Given the description of an element on the screen output the (x, y) to click on. 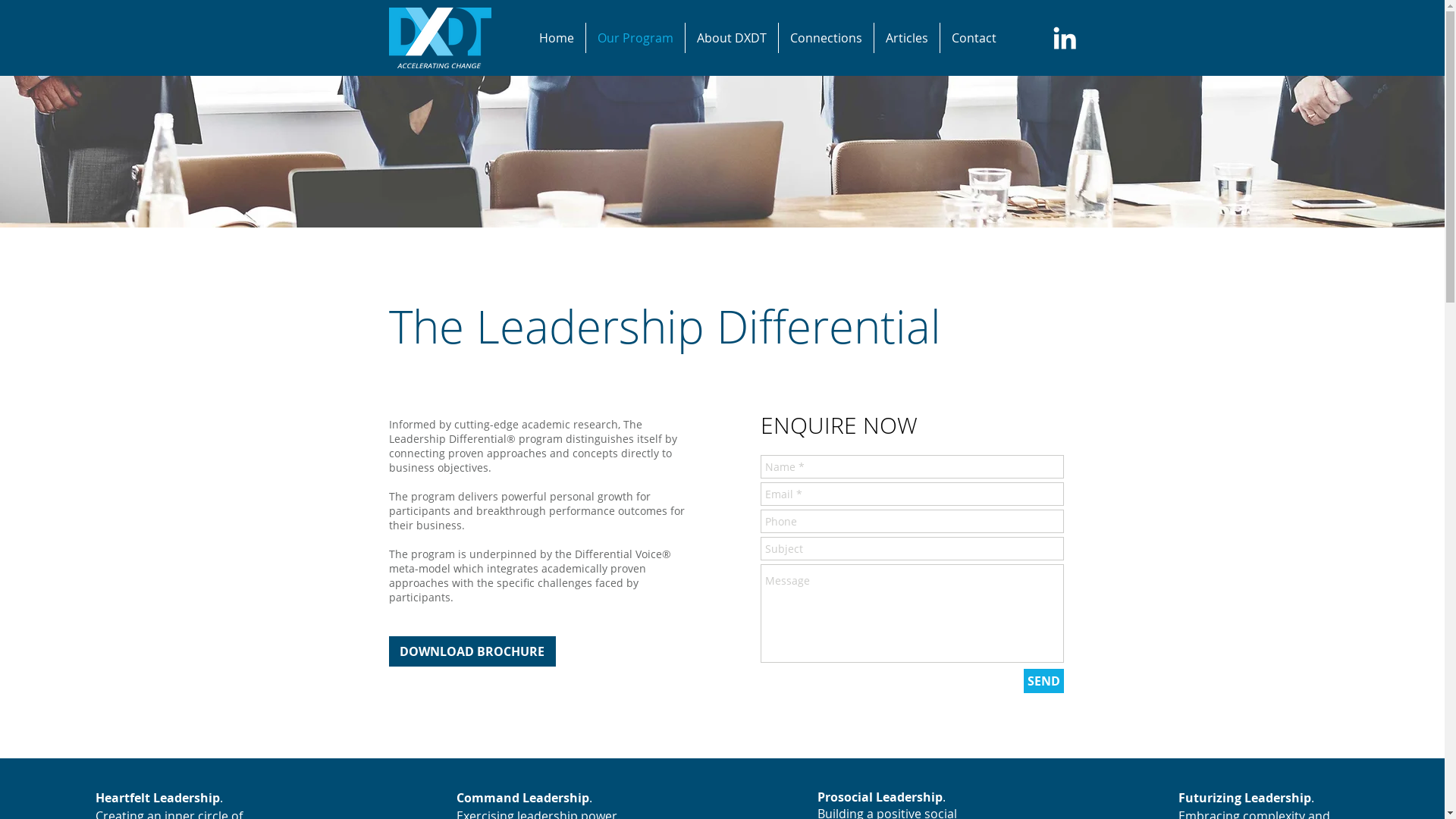
Articles Element type: text (906, 37)
DOWNLOAD BROCHURE Element type: text (471, 651)
About DXDT Element type: text (731, 37)
Connections Element type: text (825, 37)
Our Program Element type: text (635, 37)
Contact Element type: text (973, 37)
Home Element type: text (556, 37)
SEND Element type: text (1043, 680)
